Given the description of an element on the screen output the (x, y) to click on. 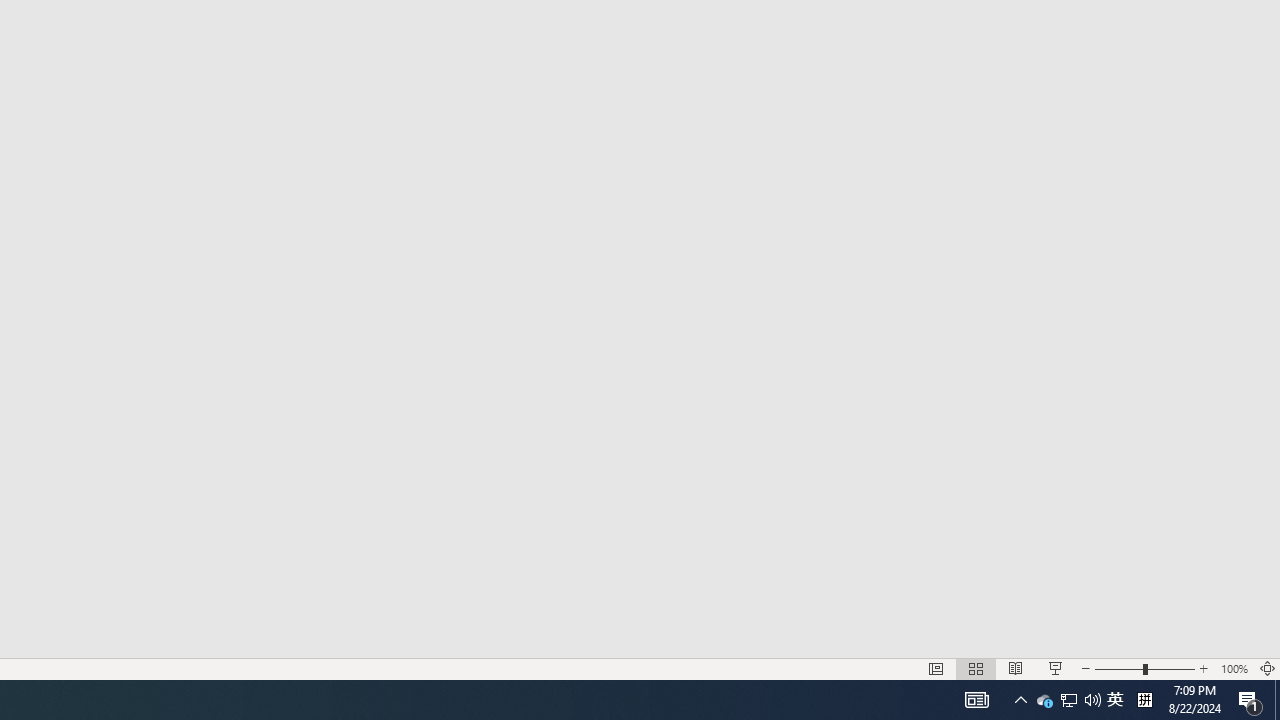
Zoom 100% (1234, 668)
